Given the description of an element on the screen output the (x, y) to click on. 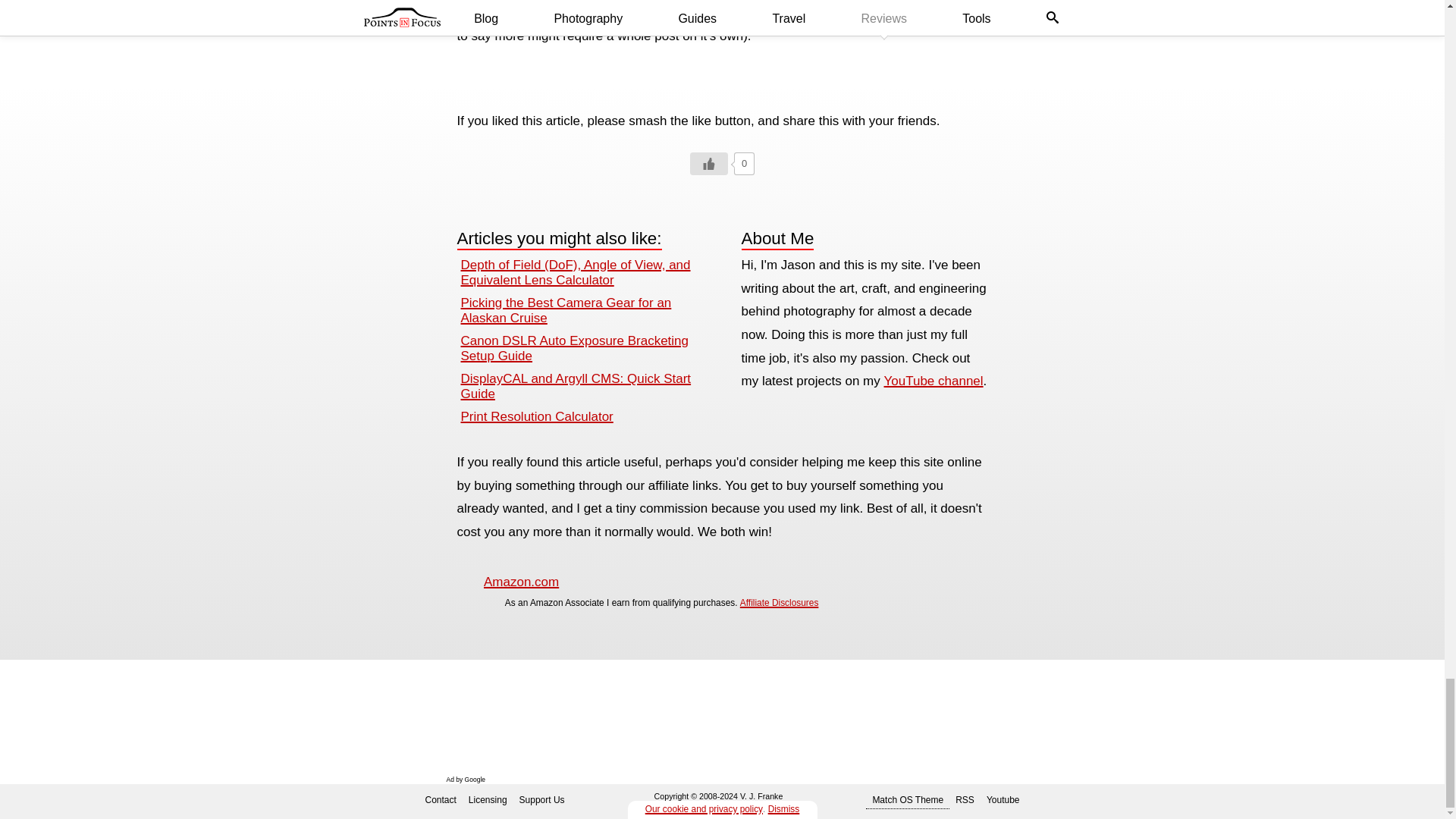
YouTube channel (933, 380)
Contact (440, 799)
Match OS Theme (907, 799)
Print Resolution Calculator (536, 416)
Licensing (488, 799)
Print Resolution Calcualtor (536, 416)
Terms of Use and Privacy Policy (690, 805)
Canon DSLR Auto Exposure Bracketing Setup Guide (574, 348)
Canon Auto Exposure Bracketing COnigruation Guide (574, 348)
RSS (964, 799)
Contact Points in Focus (440, 799)
Affiliate Disclosures (778, 602)
DisplayCAL quick start guide. (576, 386)
Subscribe to our feed. (964, 799)
